Given the description of an element on the screen output the (x, y) to click on. 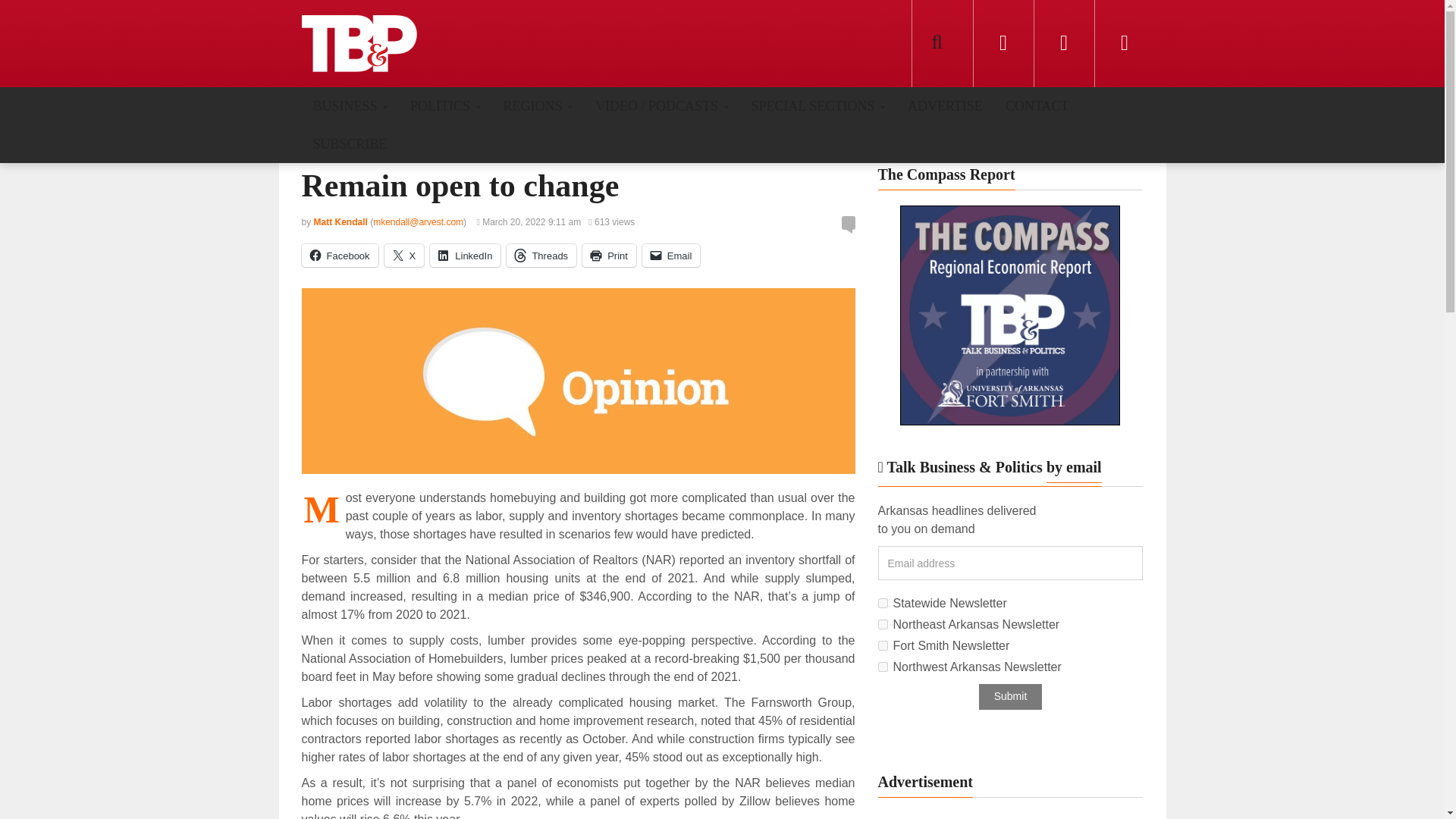
a8cb0d3206 (882, 603)
Click to share on X (404, 255)
Click to share on LinkedIn (464, 255)
Click to print (609, 255)
bfd07a2f6a (882, 645)
Click to share on Facebook (339, 255)
Click to email a link to a friend (671, 255)
536baa6e11 (882, 666)
BUSINESS (349, 105)
Click to share on Threads (541, 255)
0dbc242577 (882, 624)
